Given the description of an element on the screen output the (x, y) to click on. 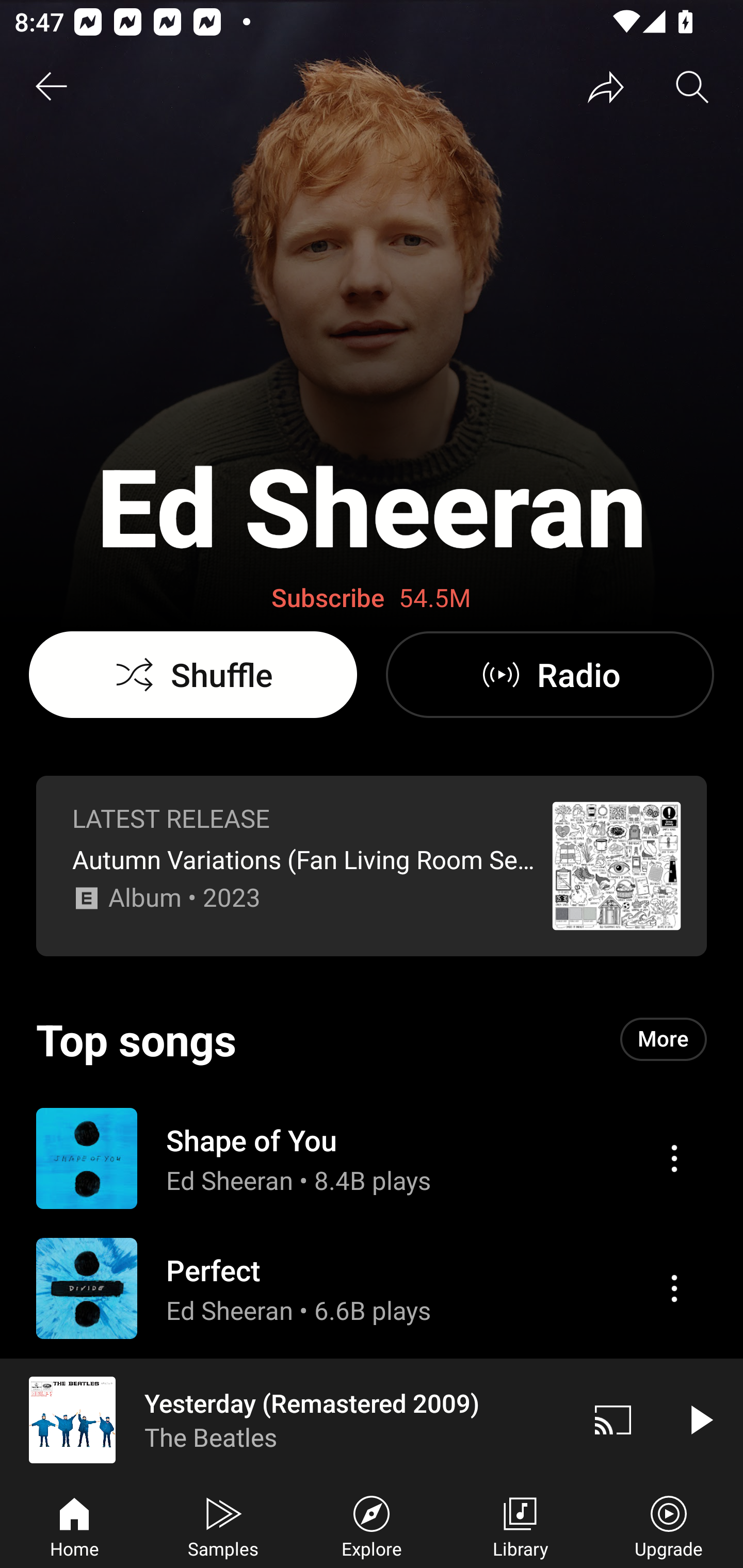
Back (50, 86)
Share (605, 86)
Search (692, 86)
Subscribe 54.5M (371, 598)
Shuffle (192, 674)
Radio (549, 674)
Action menu (371, 1157)
Action menu (673, 1158)
Action menu (371, 1288)
Action menu (673, 1288)
Yesterday (Remastered 2009) The Beatles (284, 1419)
Cast. Disconnected (612, 1419)
Play video (699, 1419)
Home (74, 1524)
Samples (222, 1524)
Explore (371, 1524)
Library (519, 1524)
Upgrade (668, 1524)
